Given the description of an element on the screen output the (x, y) to click on. 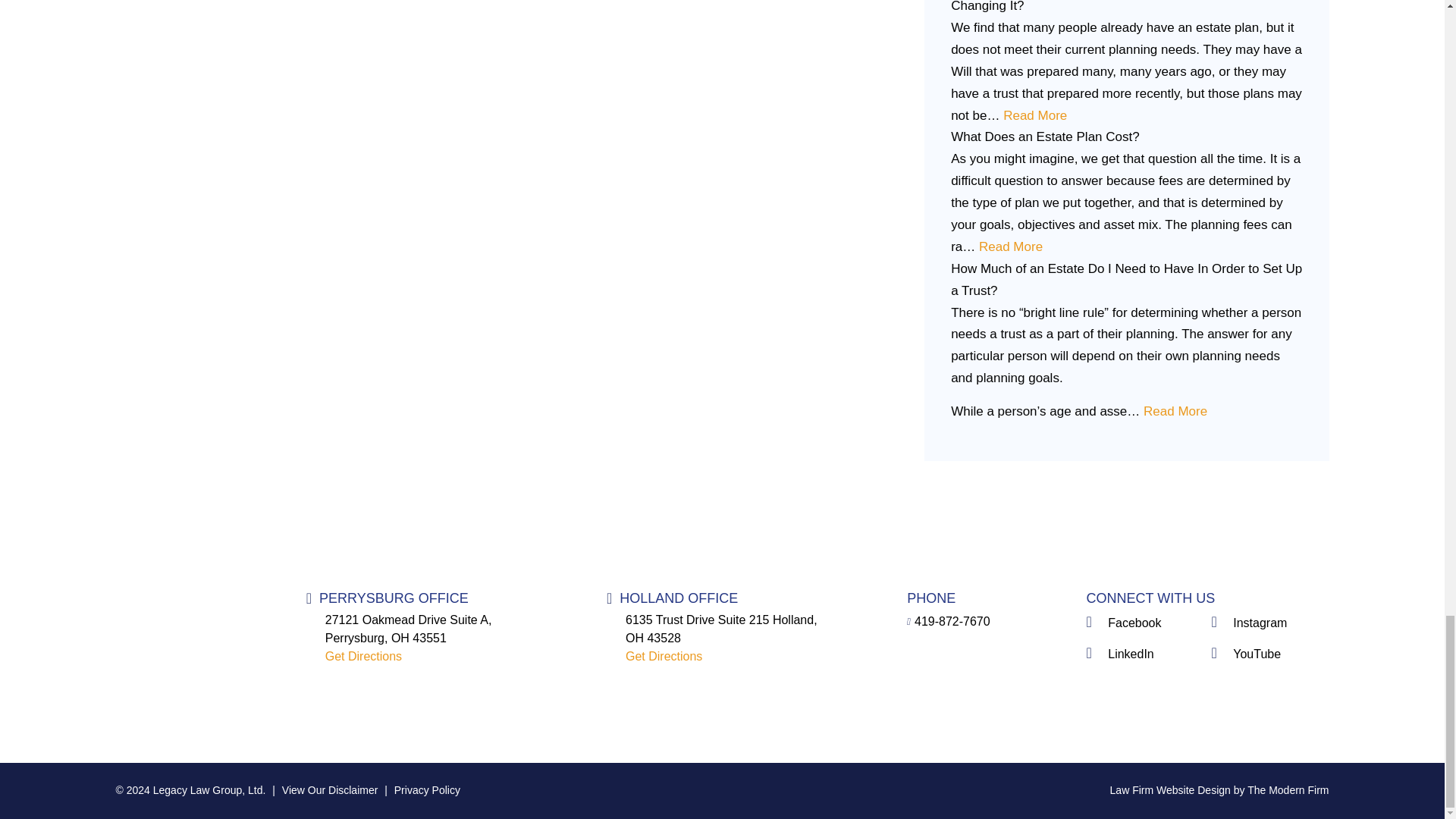
View Legacy Law Group, Ltd.'s Facebook Page (1145, 622)
Click for more What Does an Estate Plan Cost? information (1010, 246)
View Legacy Law Group, Ltd.'s Instagram Page (1270, 622)
